Given the description of an element on the screen output the (x, y) to click on. 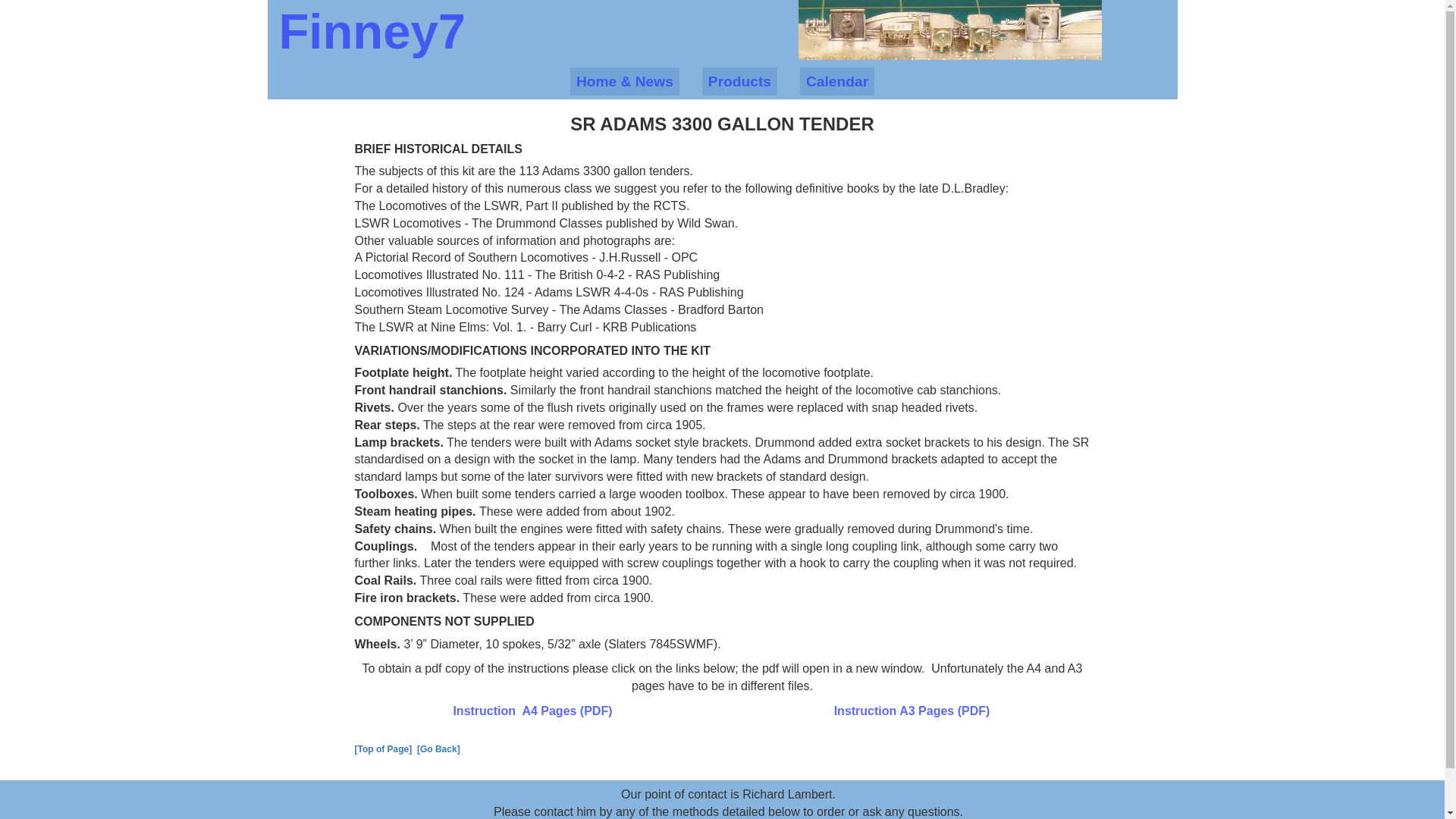
Products (739, 81)
Products (739, 81)
Calendar (837, 81)
Calendar (837, 81)
